Given the description of an element on the screen output the (x, y) to click on. 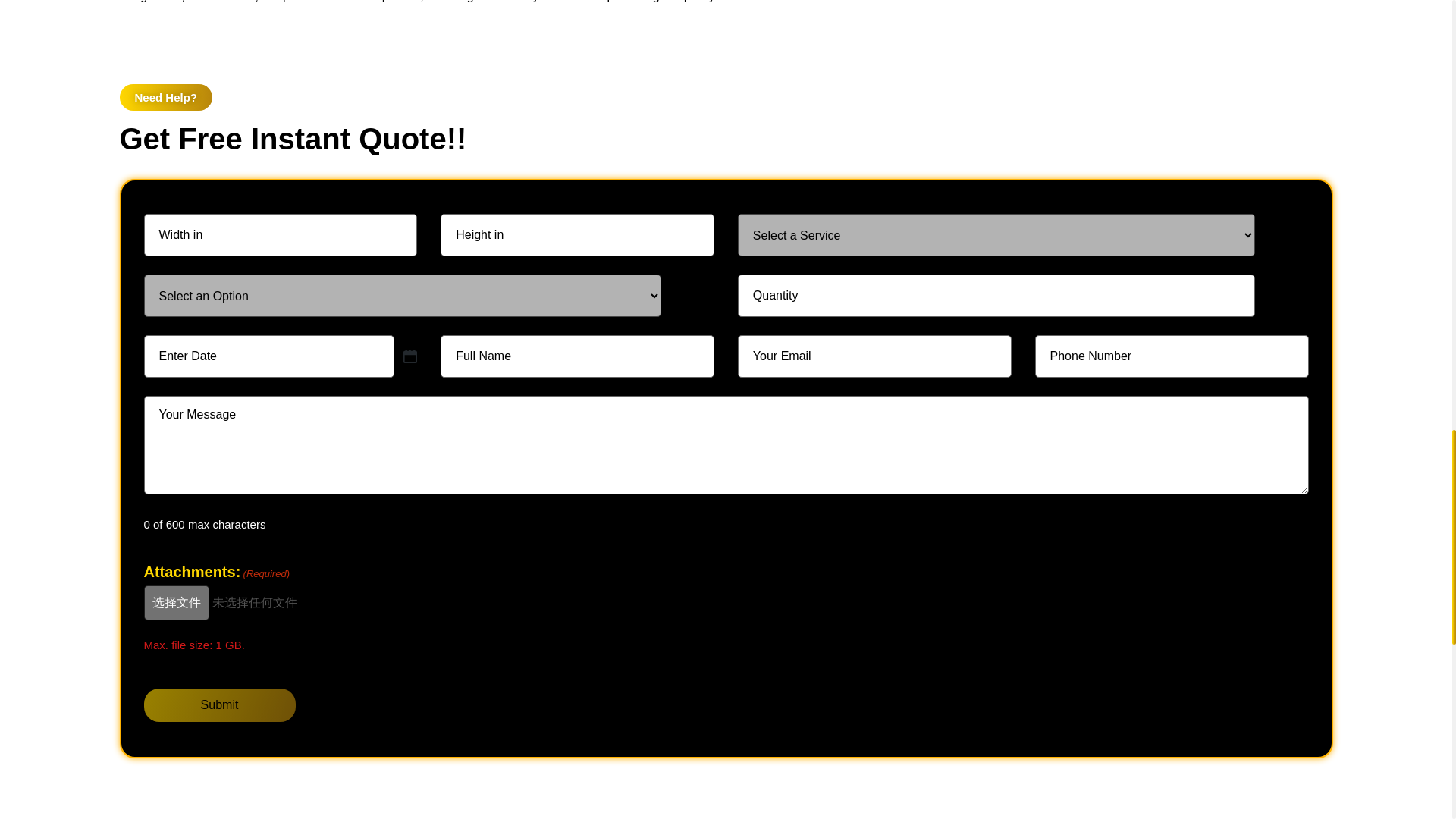
Submit (219, 704)
Select date (409, 356)
